Given the description of an element on the screen output the (x, y) to click on. 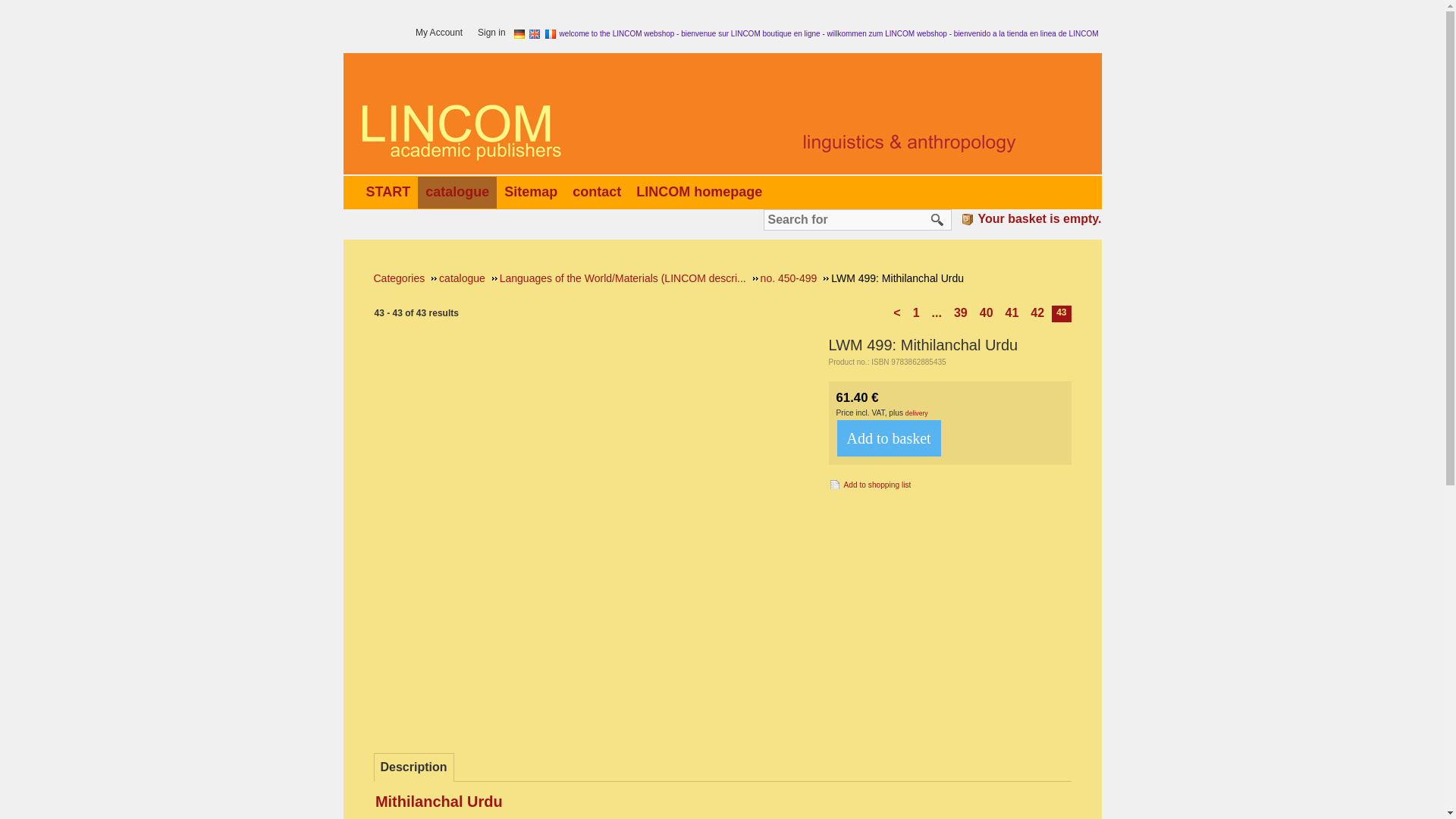
My Account (442, 32)
START (391, 190)
catalogue (459, 191)
Sign in (495, 32)
Start search (937, 219)
Add to shopping list (869, 483)
